Given the description of an element on the screen output the (x, y) to click on. 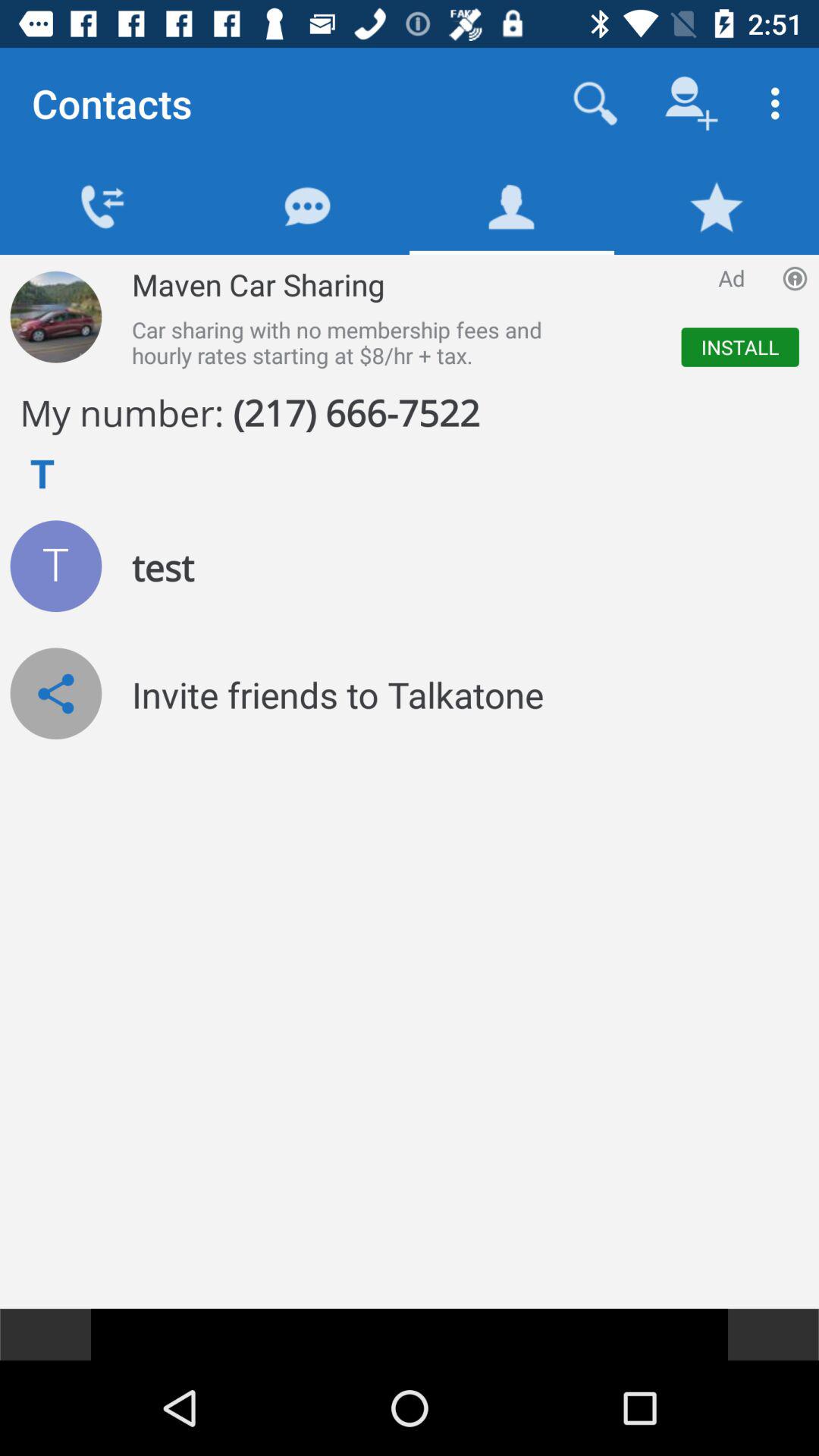
schedule a car share (55, 316)
